Given the description of an element on the screen output the (x, y) to click on. 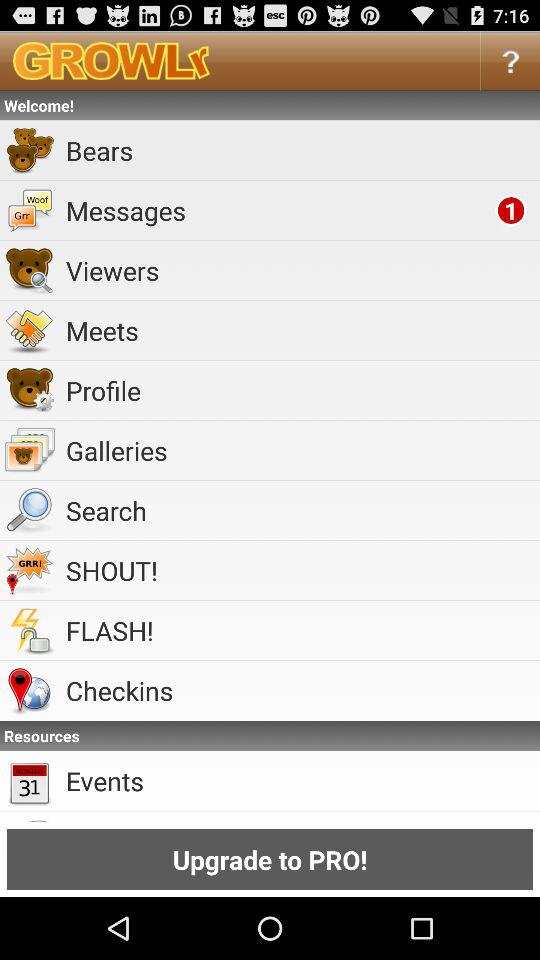
launch item below bears item (277, 210)
